Given the description of an element on the screen output the (x, y) to click on. 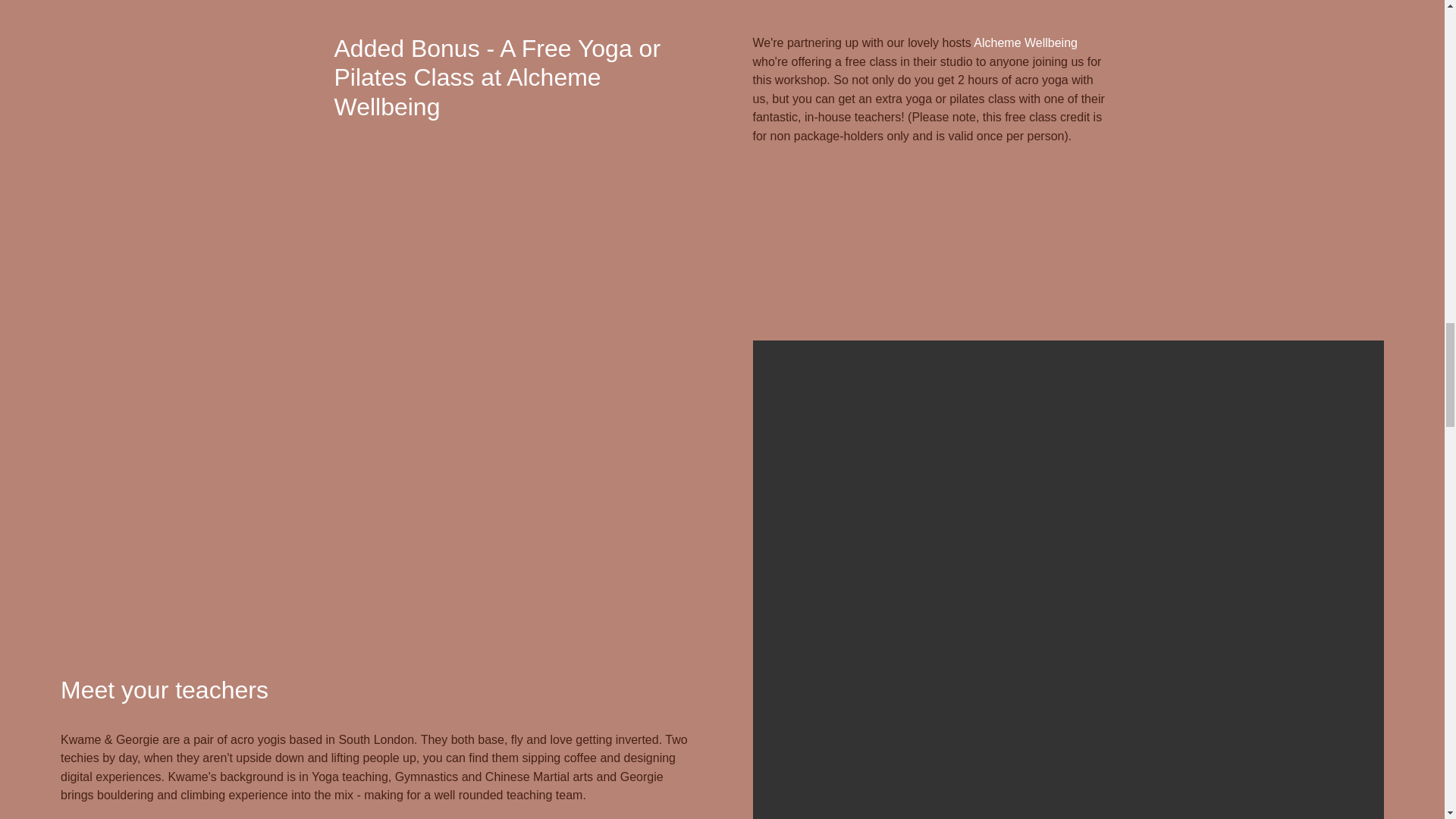
Alcheme Wellbeing (1025, 42)
